Given the description of an element on the screen output the (x, y) to click on. 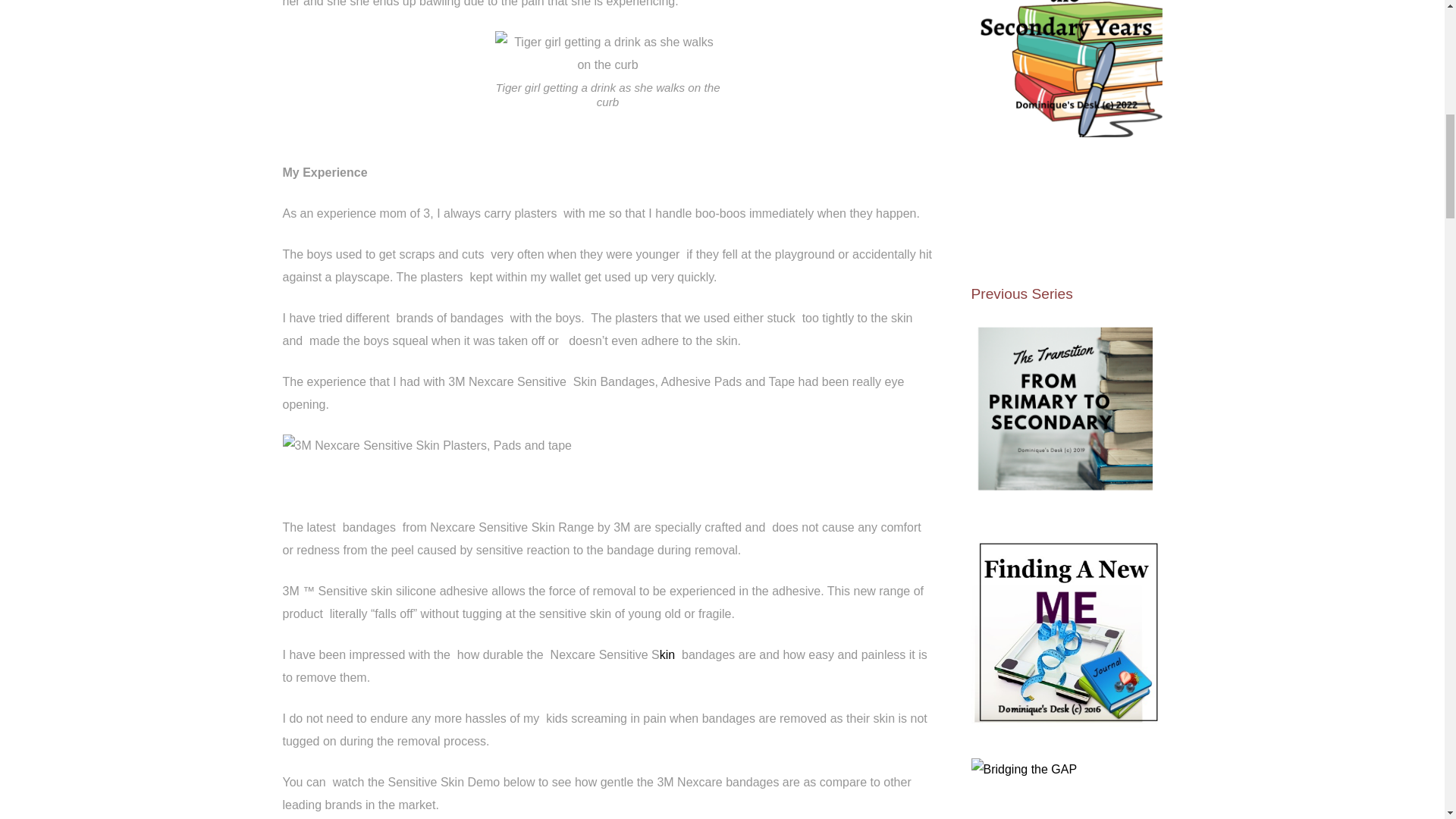
kin (667, 654)
